Given the description of an element on the screen output the (x, y) to click on. 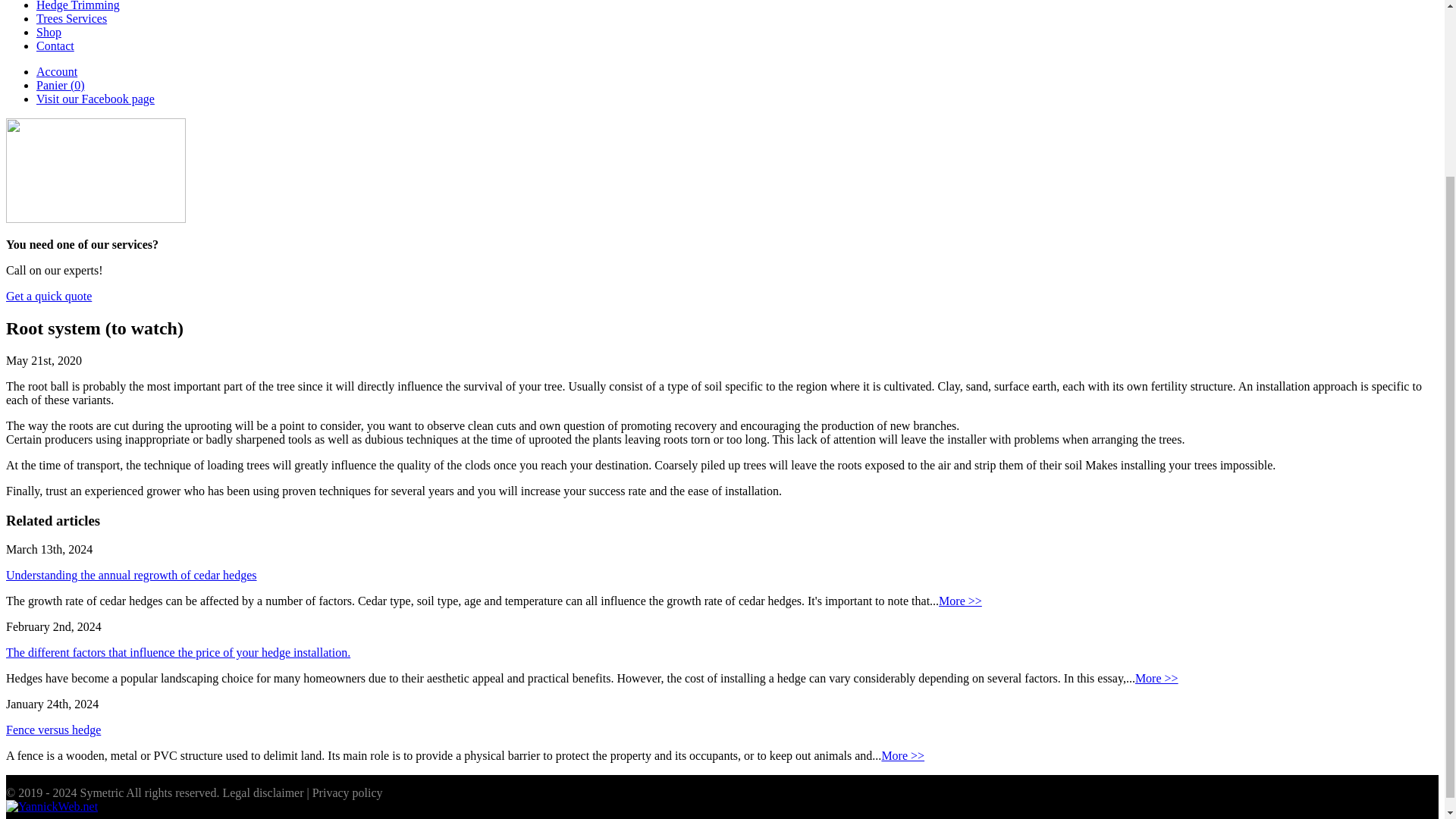
Fence versus hedge (52, 729)
Understanding the annual regrowth of cedar hedges (131, 574)
Shop (48, 31)
Shop (48, 31)
Visit our Facebook page (95, 98)
Hedge Trimming (77, 5)
Trees Services (71, 18)
Account (56, 71)
Contact (55, 45)
Get a quick quote (48, 295)
Legal disclaimer (262, 792)
Hedge Trimming (77, 5)
Privacy policy (347, 792)
Account (56, 71)
